Given the description of an element on the screen output the (x, y) to click on. 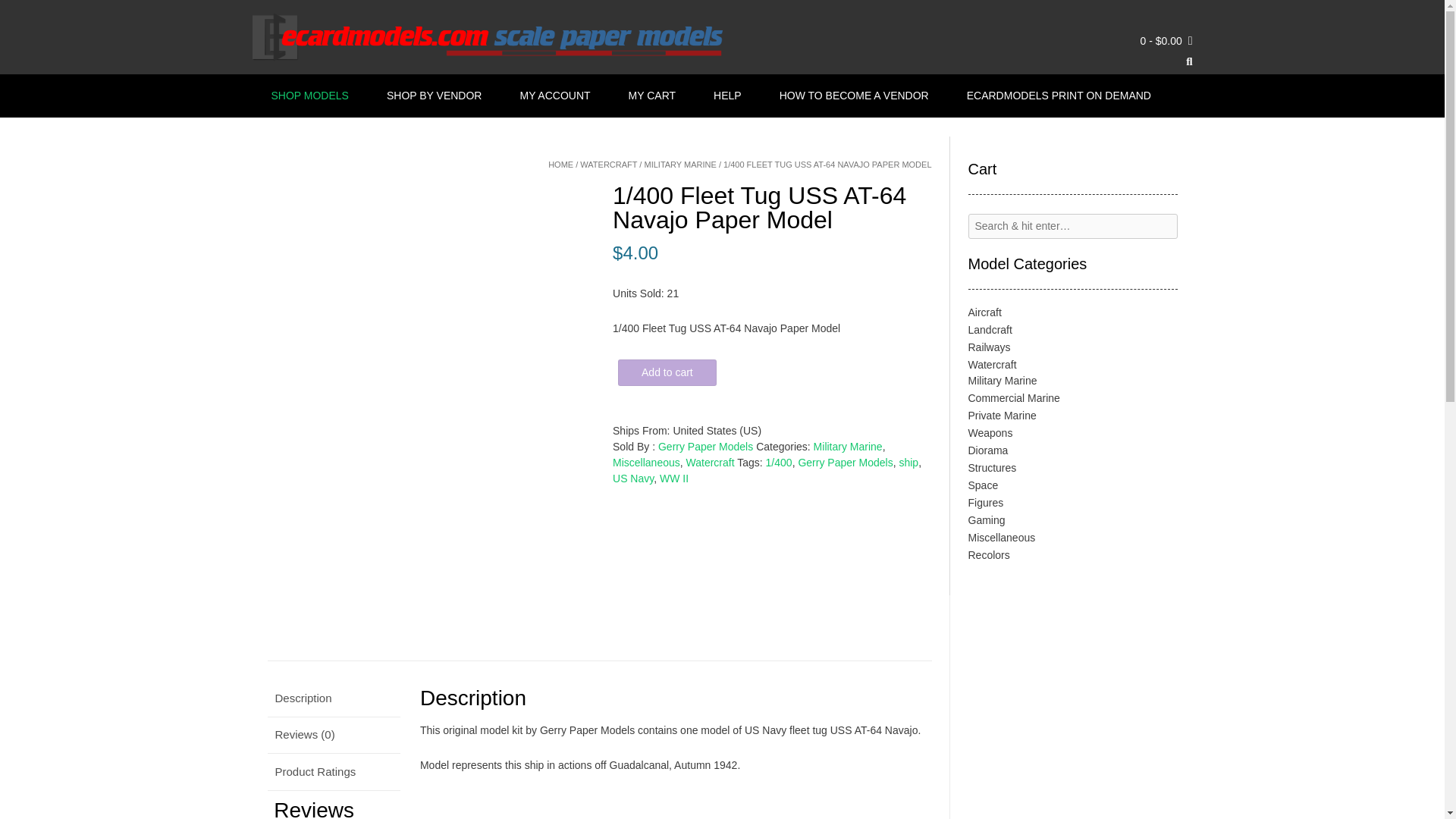
Military Marine (847, 446)
WW II (673, 478)
US Navy (632, 478)
SHOP MODELS (310, 95)
WATERCRAFT (608, 163)
Gerry Paper Models (705, 446)
Gerry Paper Models (844, 462)
View your shopping cart (1166, 40)
Add to cart (666, 372)
SHOP BY VENDOR (434, 95)
